Given the description of an element on the screen output the (x, y) to click on. 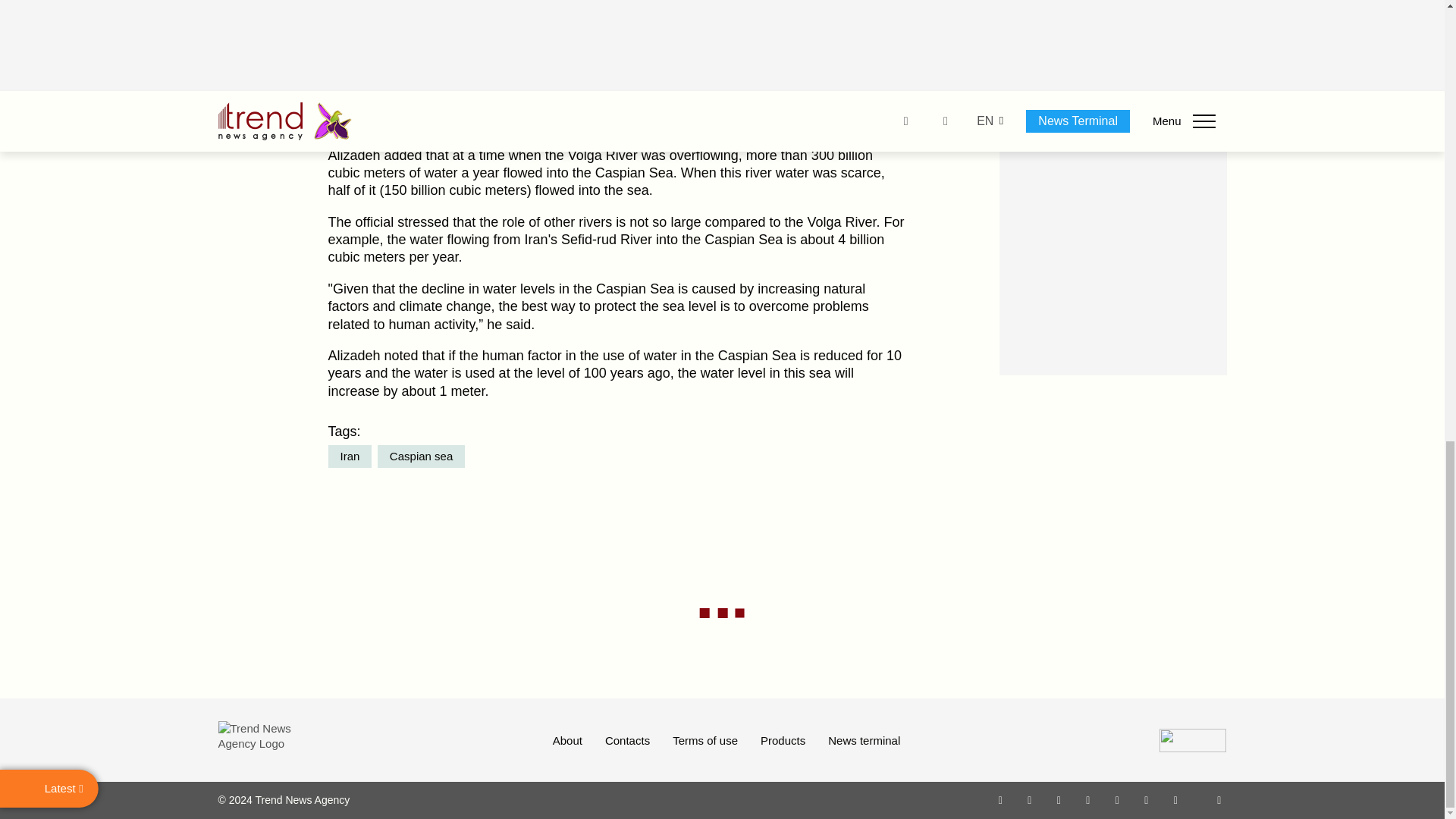
RSS Feed (1219, 799)
LinkedIn (1146, 799)
Twitter (1059, 799)
Youtube (1088, 799)
Telegram (1117, 799)
Facebook (1029, 799)
Whatsapp (1000, 799)
Android App (1176, 799)
